Given the description of an element on the screen output the (x, y) to click on. 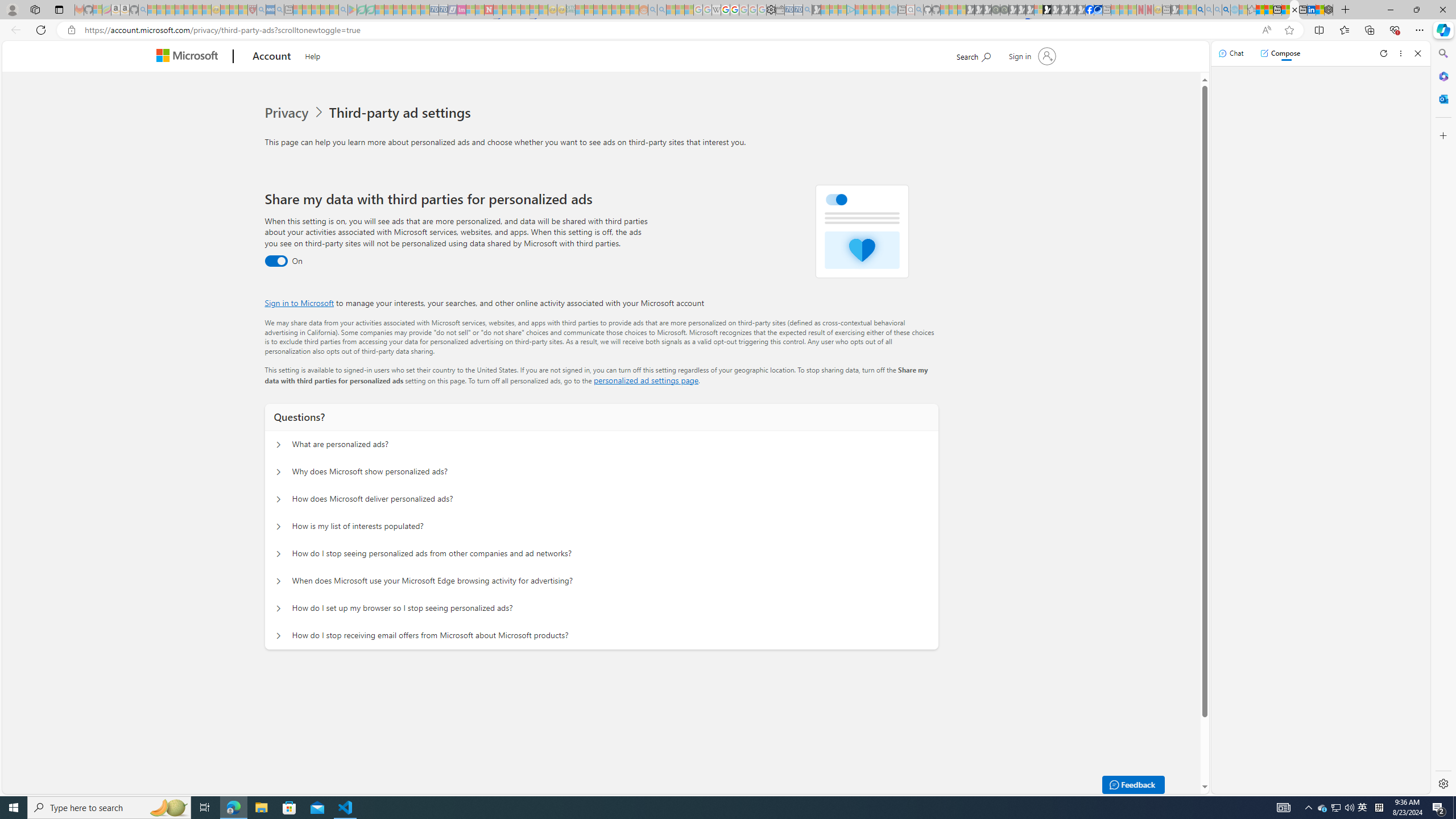
Account (272, 56)
Third party data sharing toggle (276, 260)
